Given the description of an element on the screen output the (x, y) to click on. 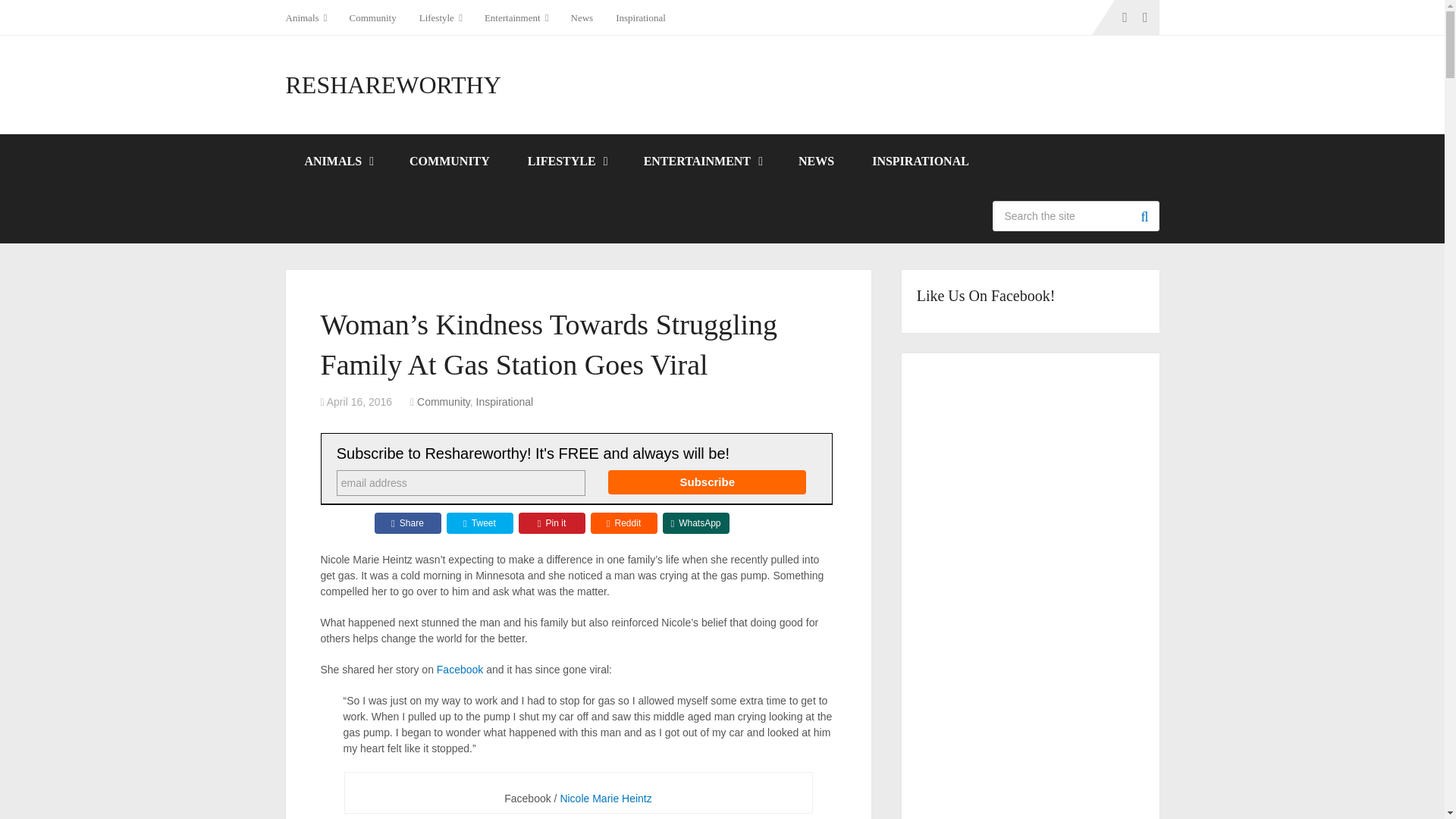
Subscribe (707, 482)
INSPIRATIONAL (920, 161)
View all posts in Community (443, 401)
Search (1143, 215)
Entertainment (516, 17)
NEWS (815, 161)
ANIMALS (337, 161)
COMMUNITY (449, 161)
Community (372, 17)
LIFESTYLE (566, 161)
News (582, 17)
Inspirational (640, 17)
RESHAREWORTHY (392, 84)
ENTERTAINMENT (701, 161)
View all posts in Inspirational (505, 401)
